Given the description of an element on the screen output the (x, y) to click on. 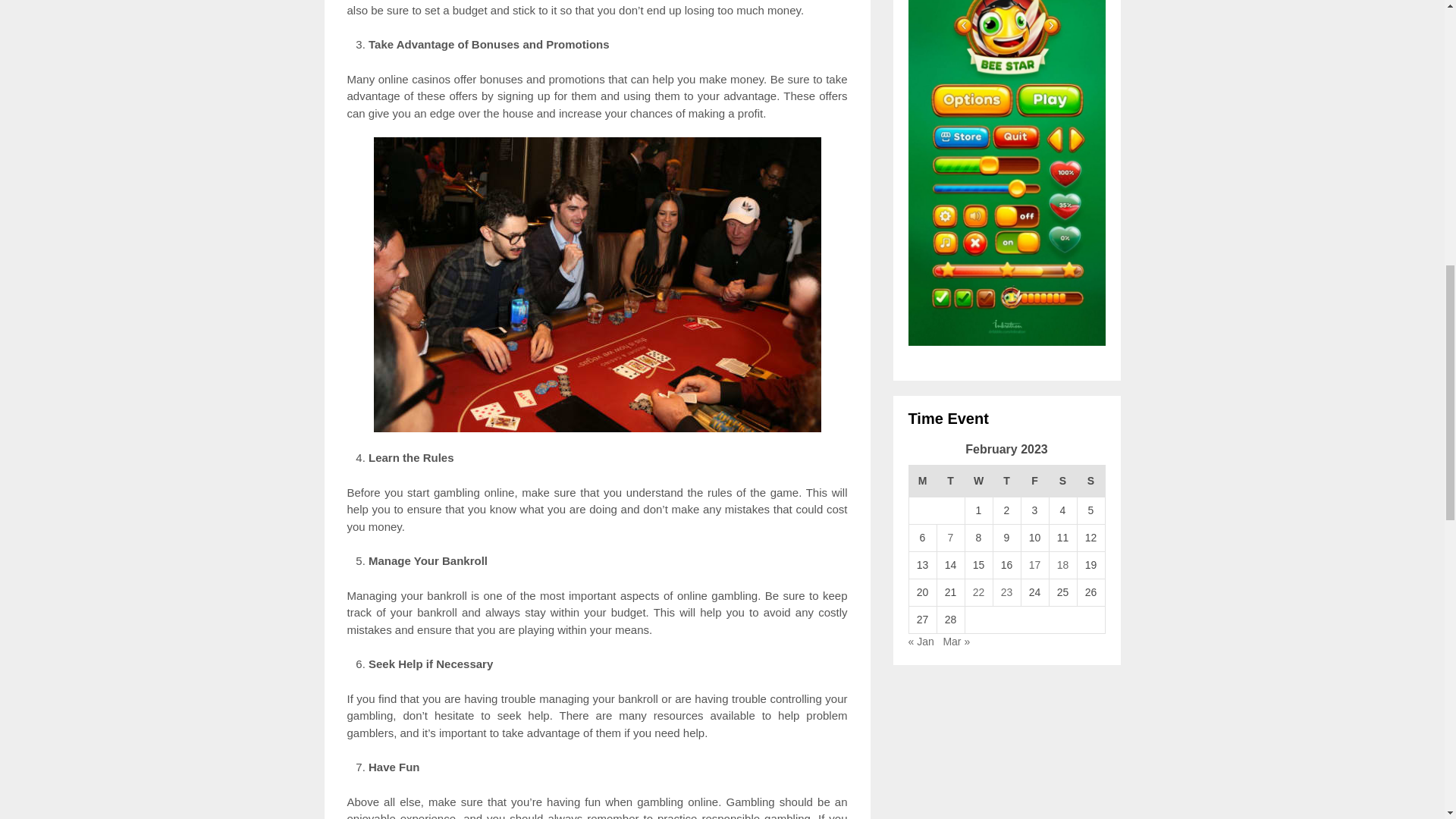
23 (1007, 592)
22 (978, 592)
17 (1035, 564)
18 (1062, 564)
